Given the description of an element on the screen output the (x, y) to click on. 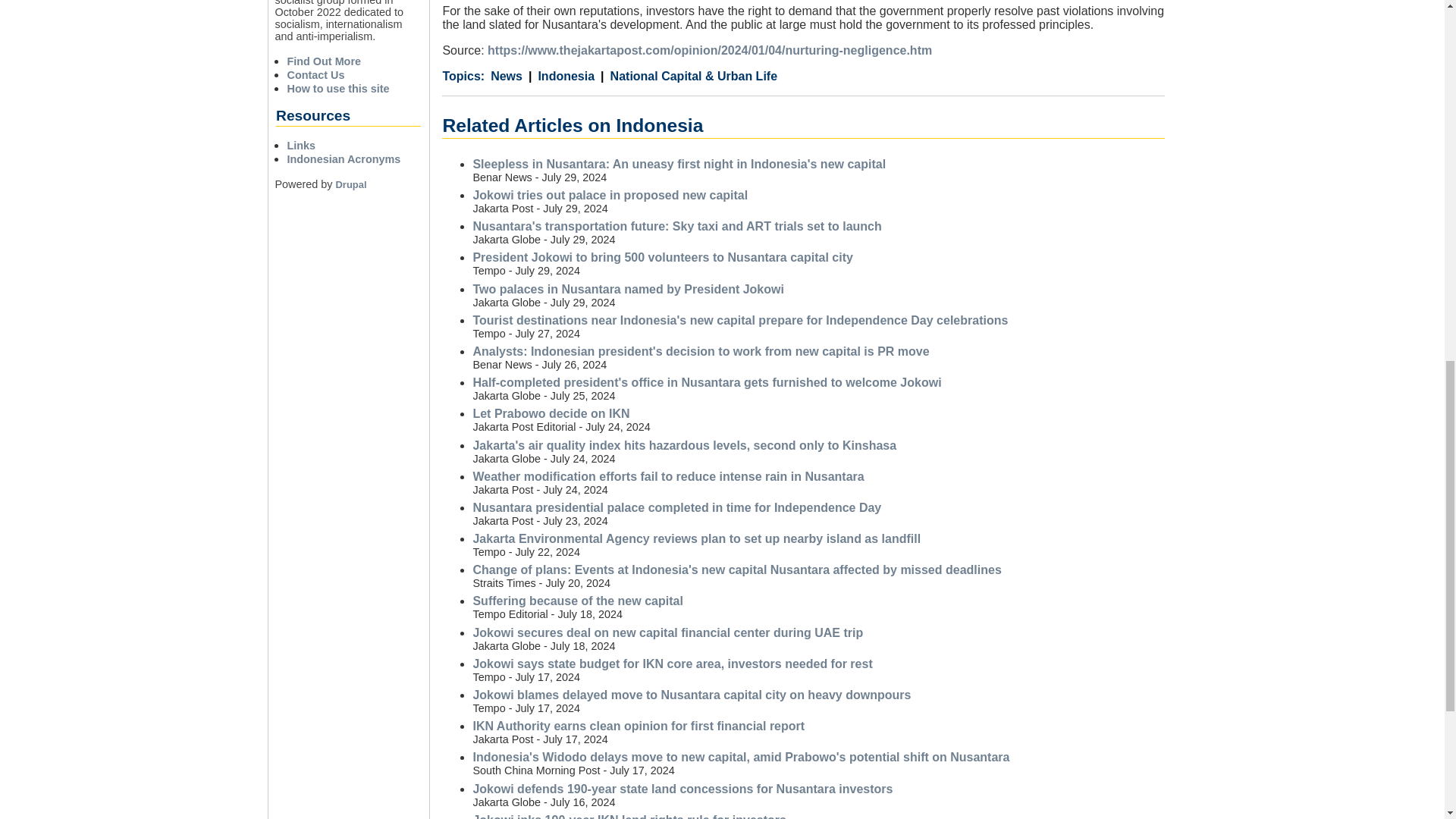
Let Prabowo decide on IKN (549, 413)
Two palaces in Nusantara named by President Jokowi (627, 288)
IKN Authority earns clean opinion for first financial report (638, 725)
Jokowi inks 190-year IKN land rights rule for investors (628, 816)
